Given the description of an element on the screen output the (x, y) to click on. 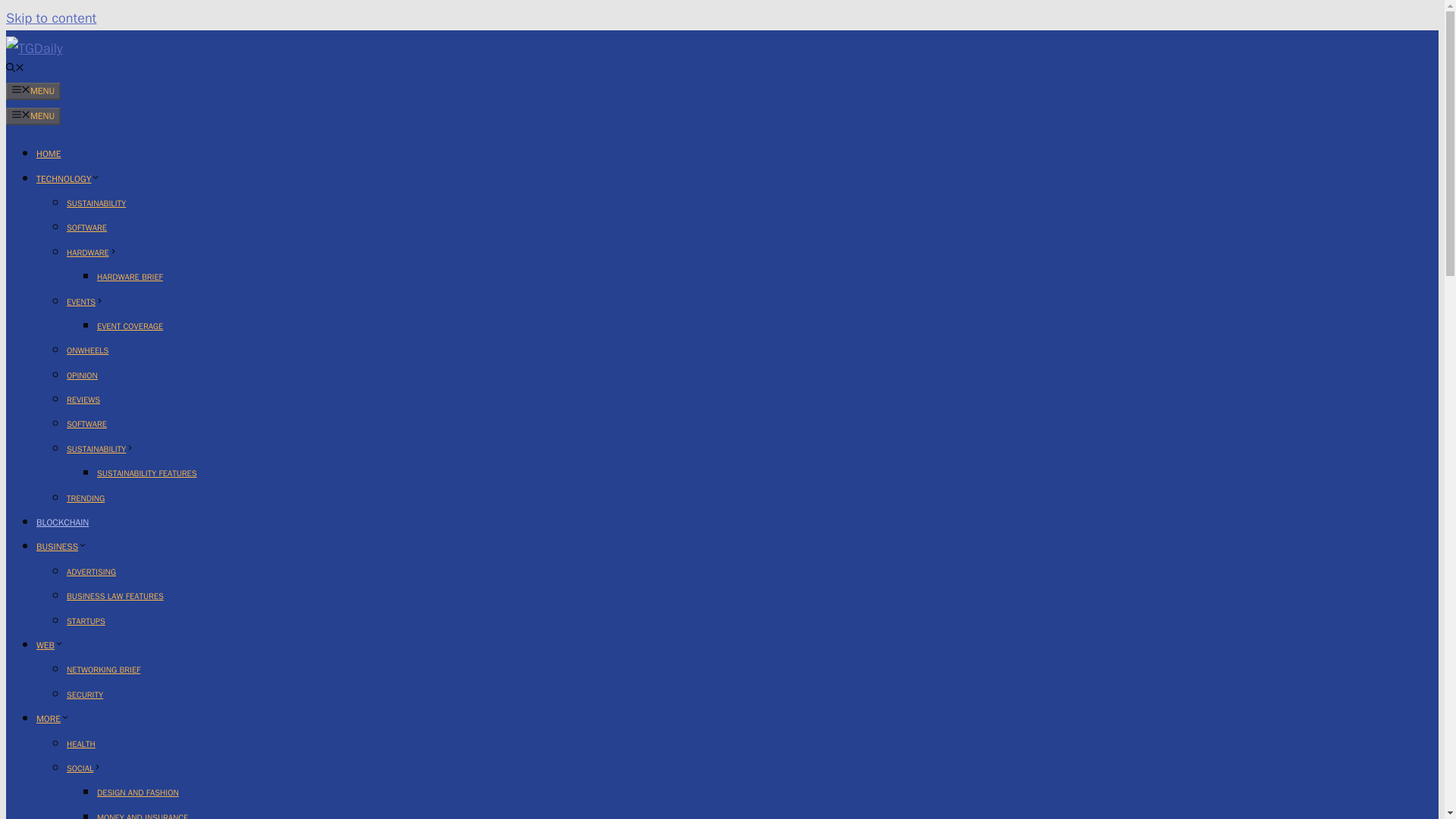
HEALTH (81, 743)
BUSINESS LAW FEATURES (114, 595)
ADVERTISING (91, 571)
EVENTS (84, 300)
EVENT COVERAGE (130, 326)
TRENDING (85, 498)
SECURITY (84, 694)
REVIEWS (83, 398)
SUSTAINABILITY (95, 203)
DESIGN AND FASHION (138, 792)
BLOCKCHAIN (62, 522)
SOCIAL (83, 767)
TECHNOLOGY (68, 178)
BUSINESS (61, 546)
SOFTWARE (86, 226)
